Given the description of an element on the screen output the (x, y) to click on. 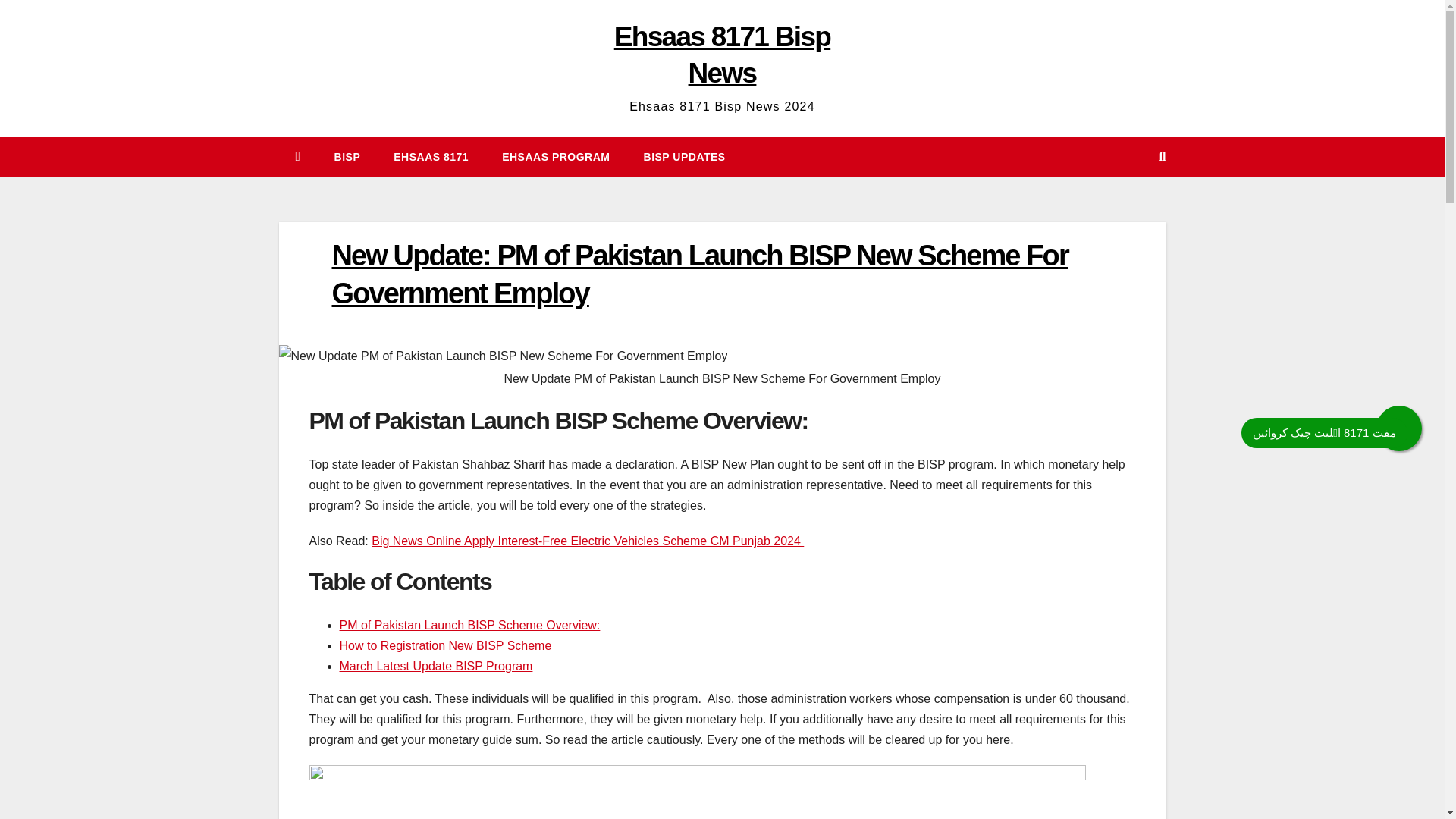
March Latest Update BISP Program (435, 666)
Ehsaas 8171 Bisp News (721, 54)
BISP UPdates (684, 156)
EHSAAS 8171 (430, 156)
Ehsaas 8171 (430, 156)
Bisp (347, 156)
PM of Pakistan Launch BISP Scheme Overview: (469, 625)
BISP (347, 156)
How to Registration New BISP Scheme (445, 645)
Ehsaas Program (555, 156)
EHSAAS PROGRAM (555, 156)
BISP UPDATES (684, 156)
